Given the description of an element on the screen output the (x, y) to click on. 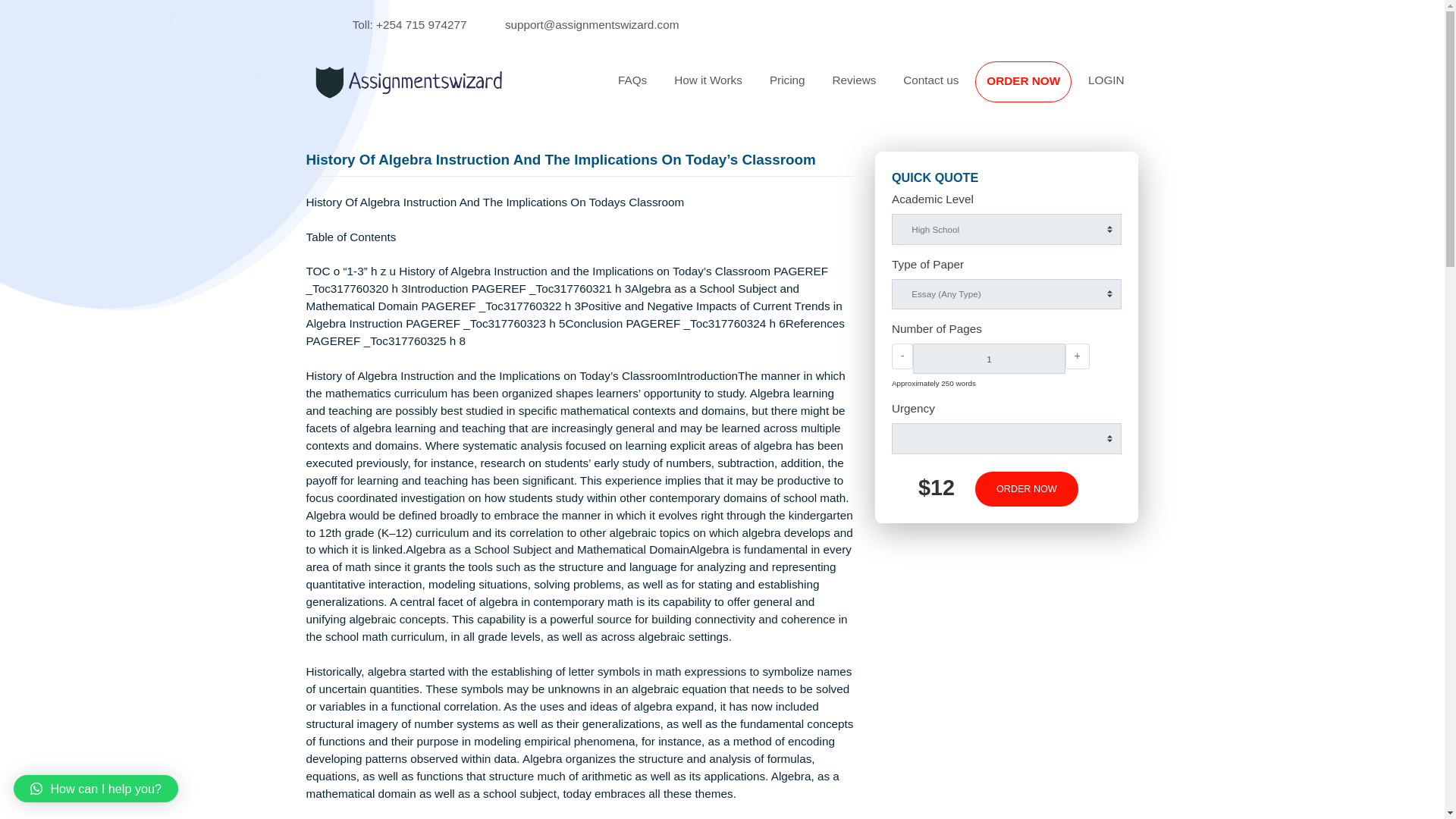
Contact us (1034, 89)
1 (1098, 398)
FAQs (702, 89)
- (1002, 395)
Pricing (875, 89)
Contact us (1034, 89)
How it Works (786, 89)
Reviews (948, 89)
ORDER NOW (1137, 90)
LOGIN (1229, 89)
ORDER NOW (1137, 90)
LOGIN (1229, 89)
How it Works (786, 89)
Pricing (875, 89)
FAQs (702, 89)
